Given the description of an element on the screen output the (x, y) to click on. 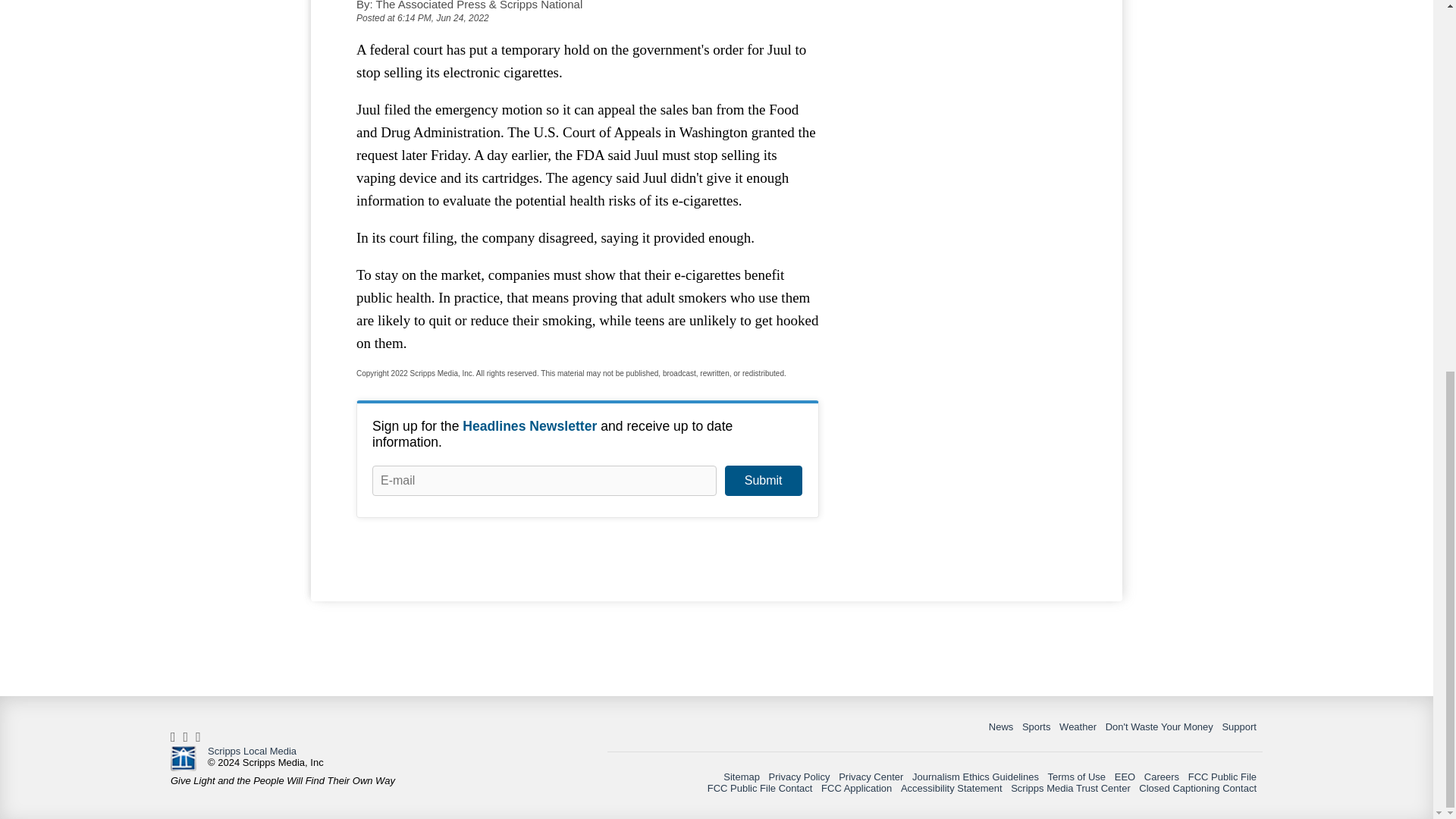
Submit (763, 481)
